Given the description of an element on the screen output the (x, y) to click on. 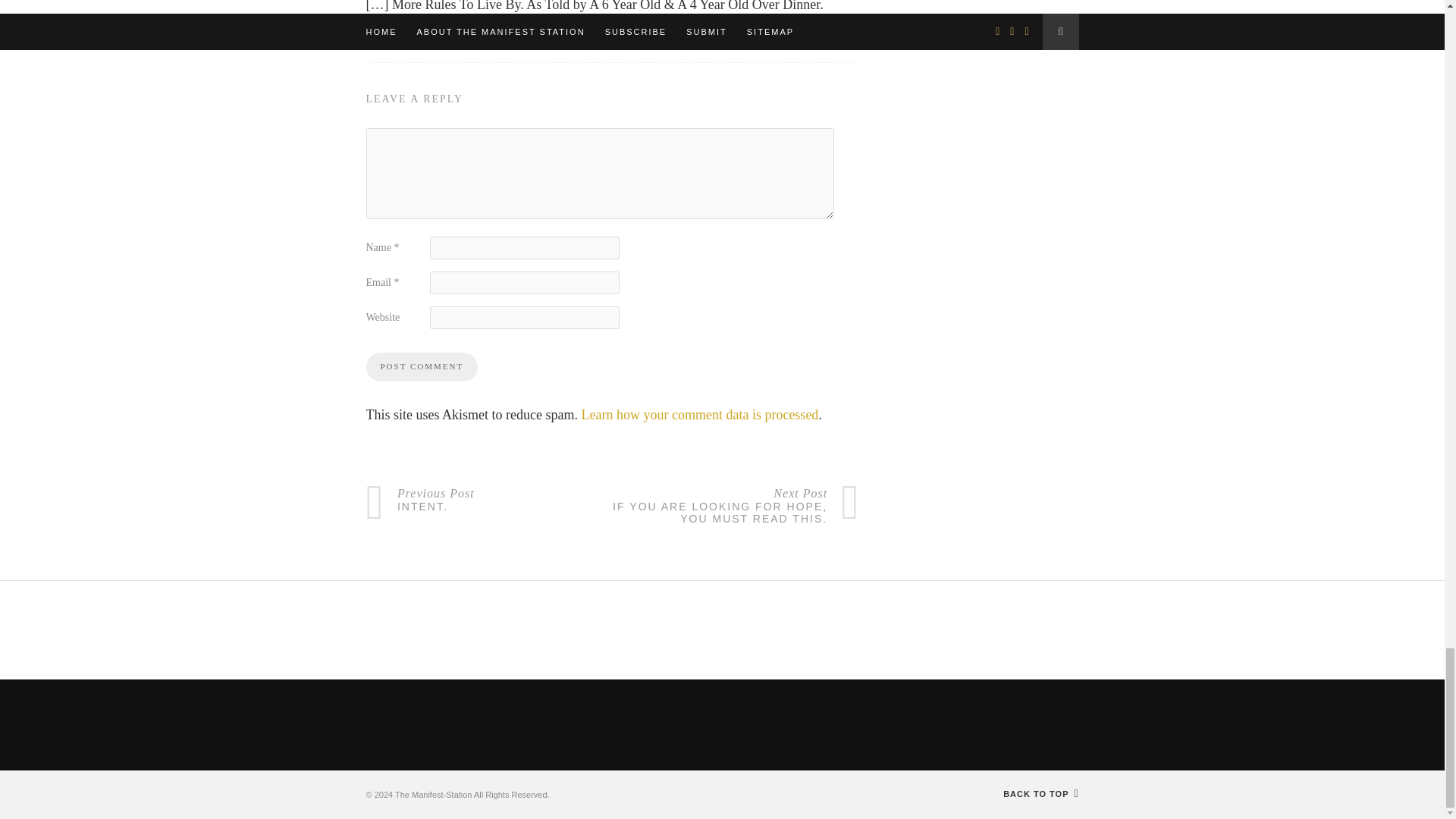
Post Comment (421, 366)
